Given the description of an element on the screen output the (x, y) to click on. 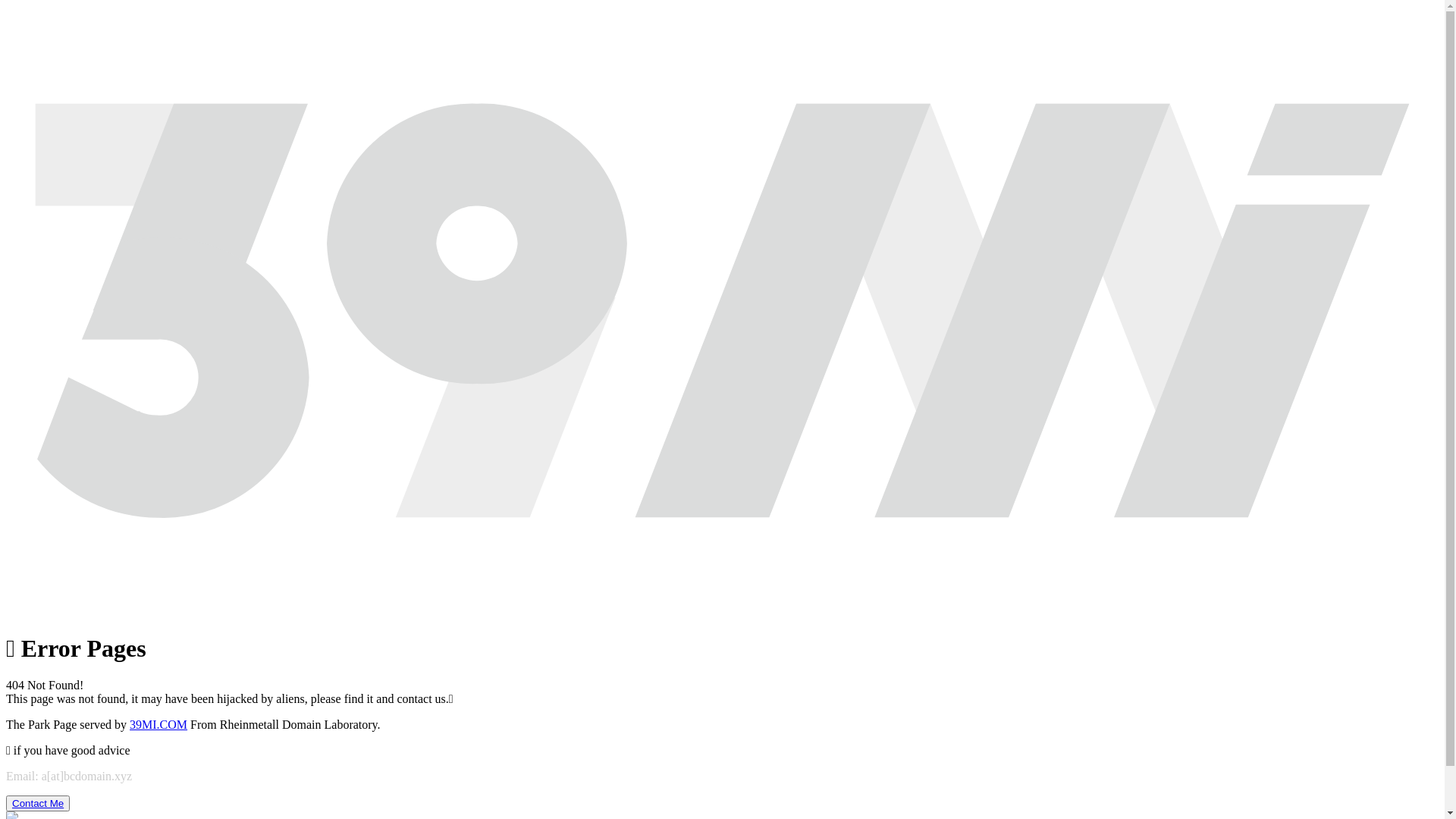
Contact Me Element type: text (37, 803)
Contact Me Element type: text (37, 803)
39MI.COM Element type: text (158, 724)
